Given the description of an element on the screen output the (x, y) to click on. 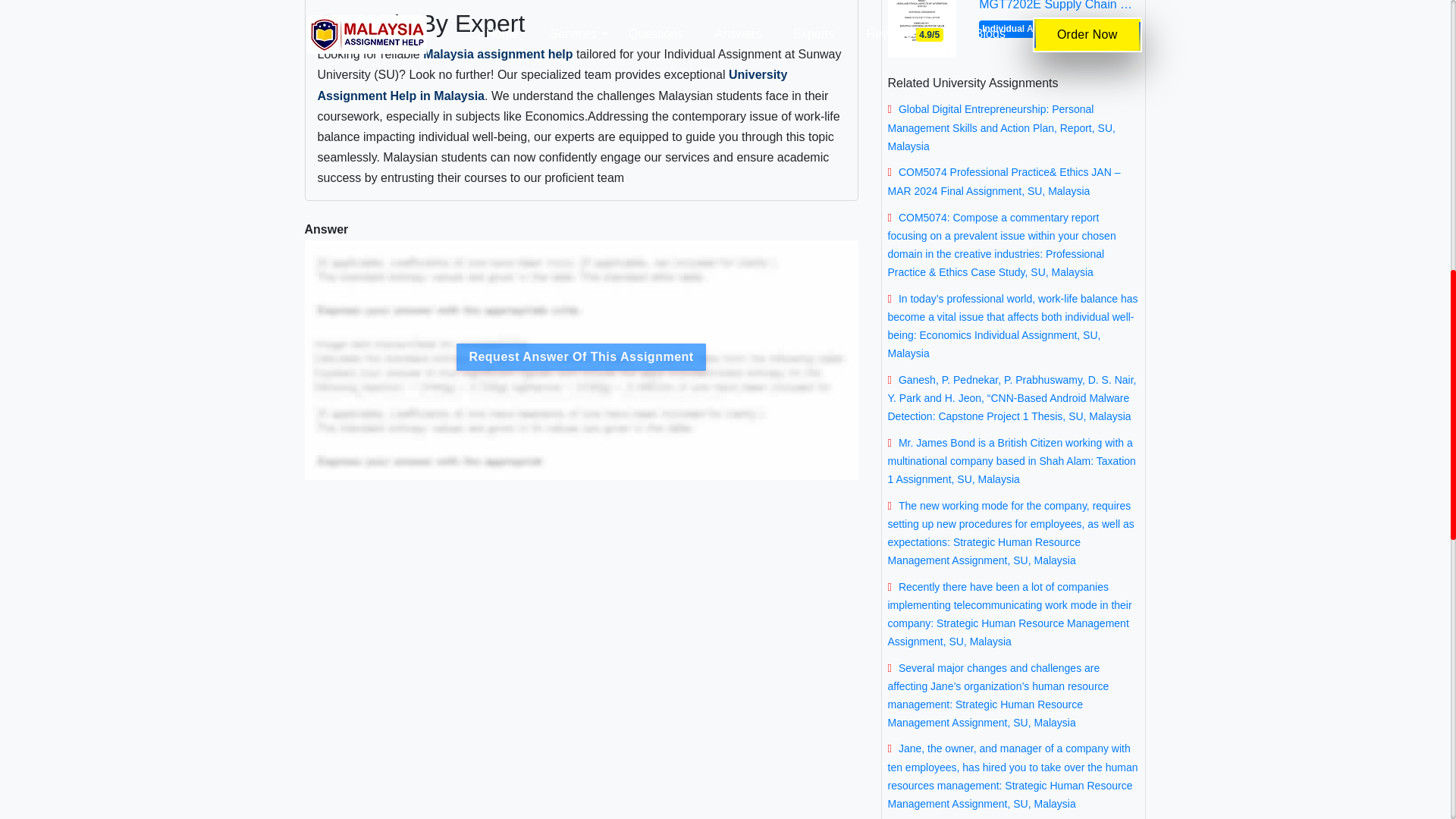
Request Answer Of This Assignment (580, 492)
Hire a Writer Now (507, 223)
Malaysia assignment help (497, 53)
Request Answer Of This Assignment (580, 357)
University Assignment Help in Malaysia (552, 84)
